Given the description of an element on the screen output the (x, y) to click on. 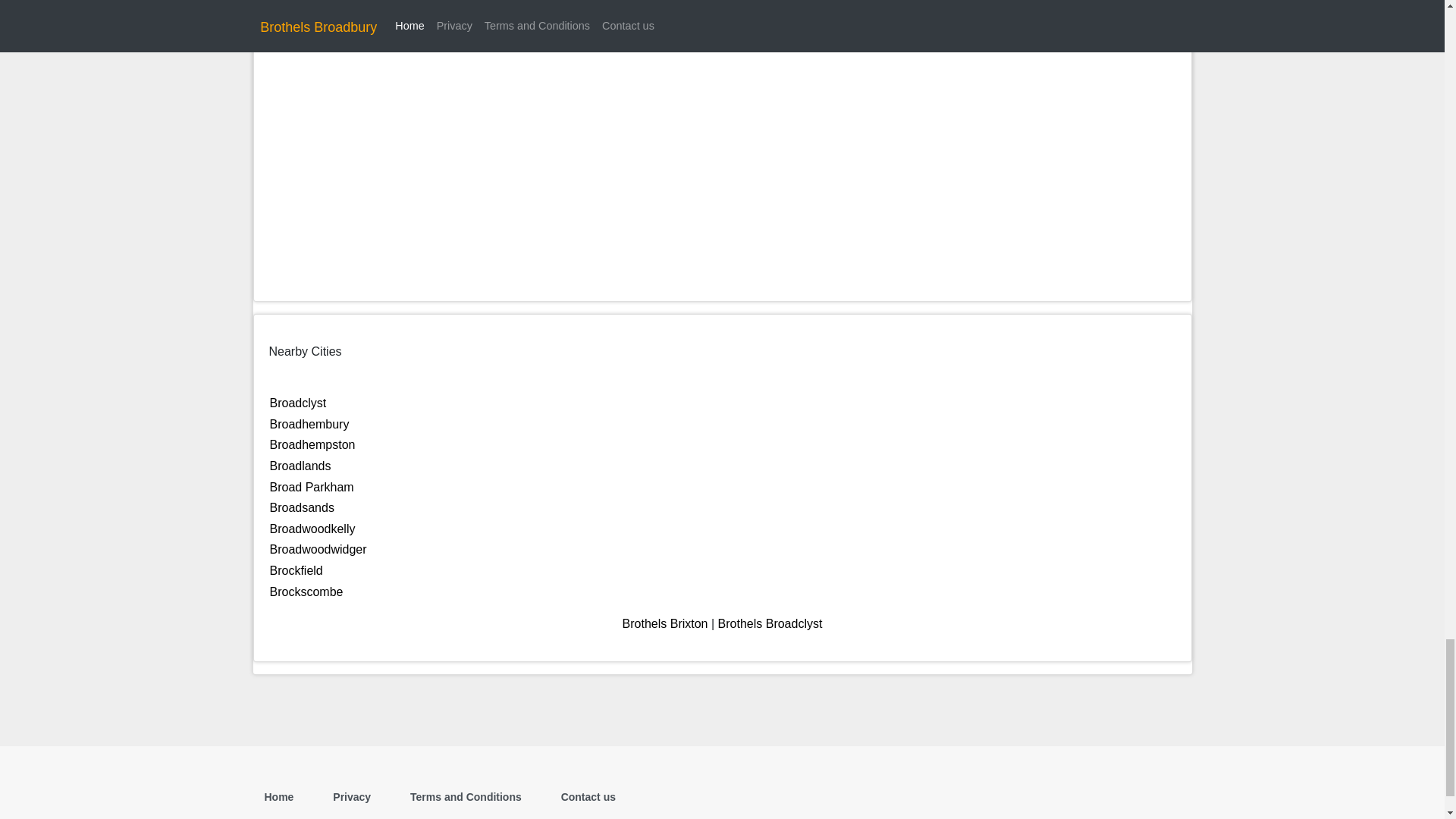
Brockscombe (306, 591)
Broadwoodwidger (317, 549)
Broadwoodkelly (312, 528)
Broad Parkham (311, 486)
Broadhempston (312, 444)
Broadhembury (309, 423)
Broadclyst (297, 402)
Brothels Broadclyst (769, 623)
Broadlands (300, 465)
Brothels Brixton (665, 623)
Brockfield (296, 570)
Broadsands (301, 507)
